Given the description of an element on the screen output the (x, y) to click on. 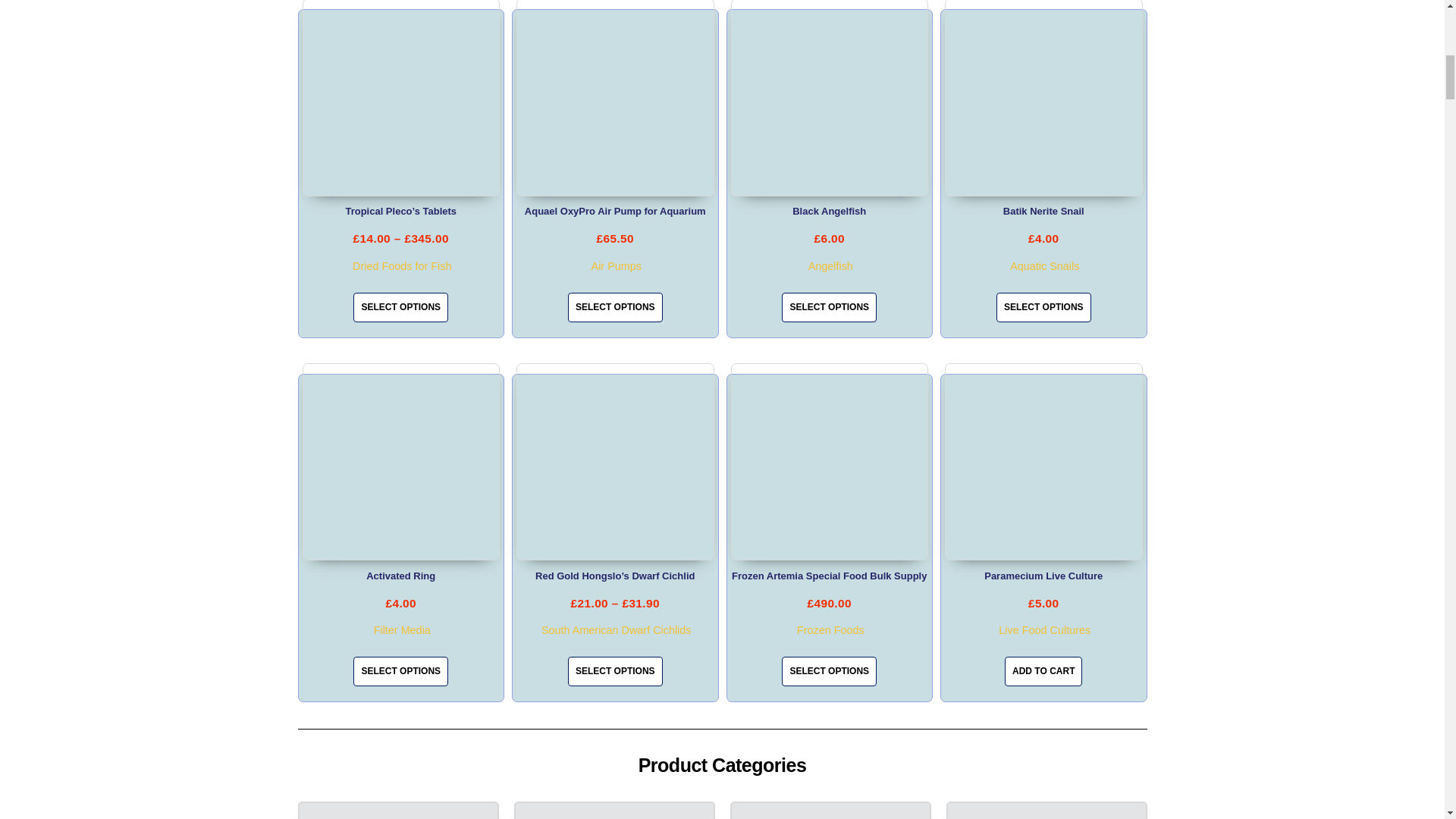
Dried Foods for Fish (401, 265)
SELECT OPTIONS (614, 307)
Air Pumps (616, 265)
SELECT OPTIONS (400, 307)
